Given the description of an element on the screen output the (x, y) to click on. 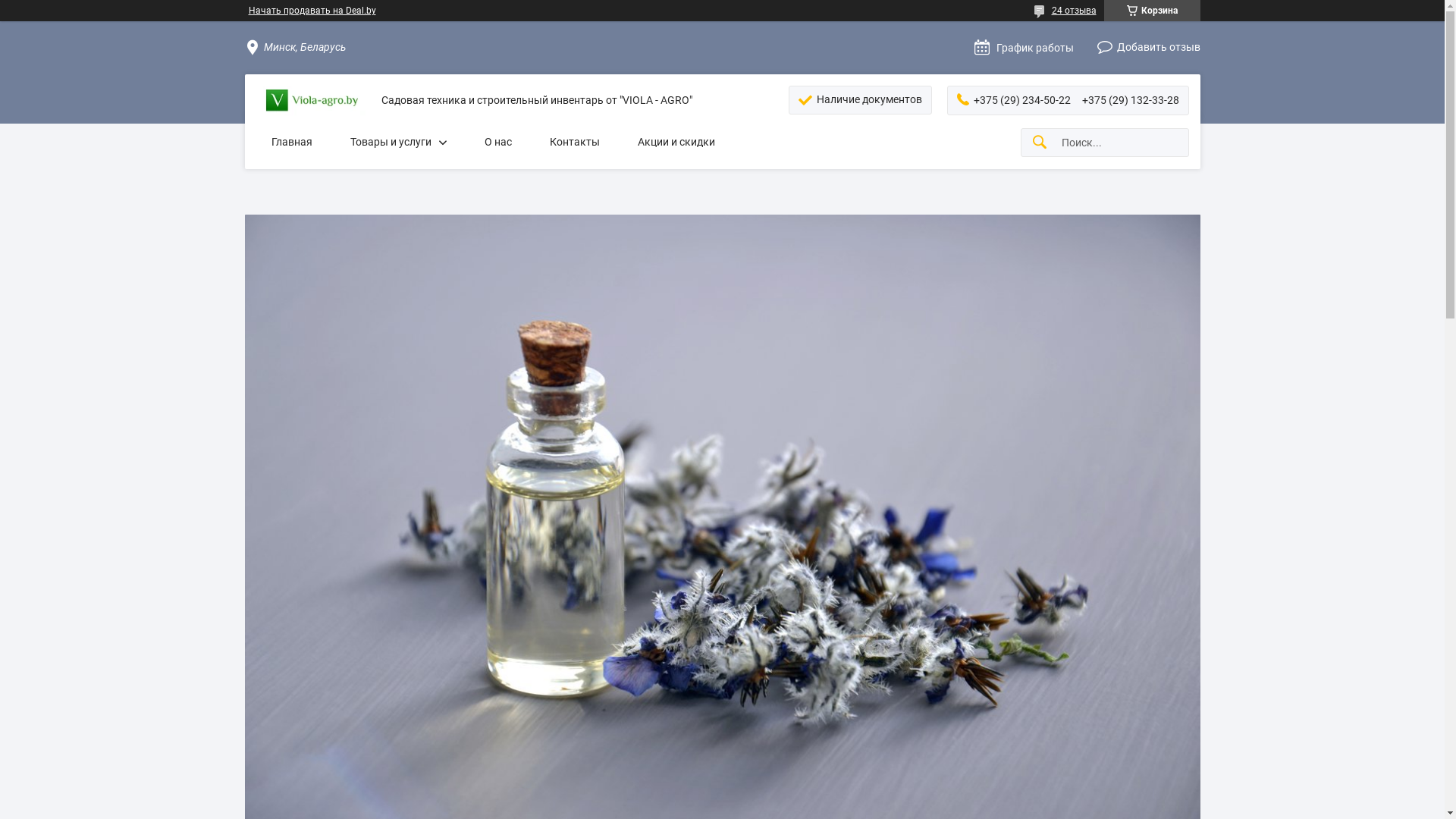
Viola-Agro Element type: hover (313, 100)
